Given the description of an element on the screen output the (x, y) to click on. 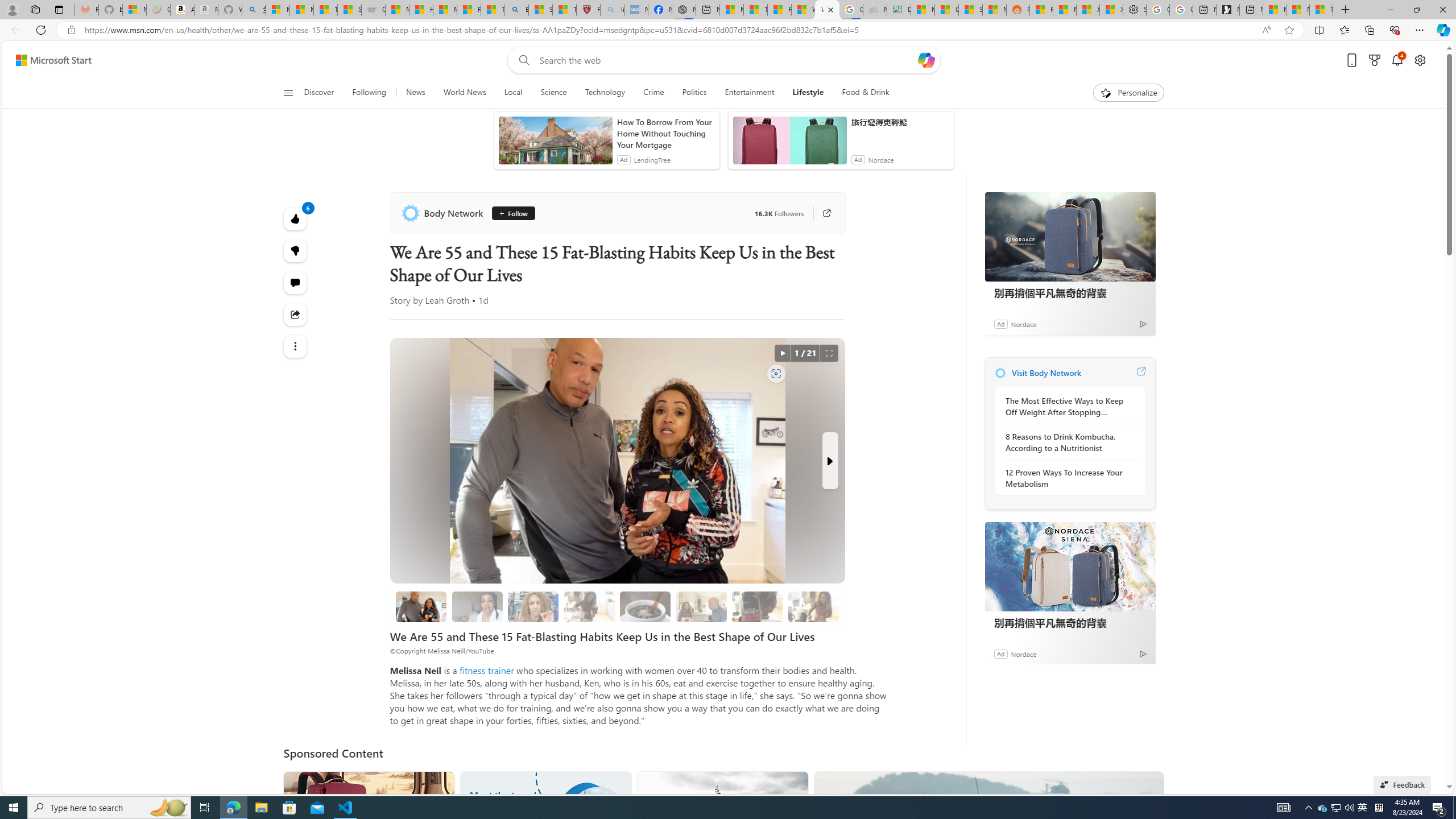
How I Got Rid of Microsoft Edge's Unnecessary Features (421, 9)
Class: at-item (295, 345)
Food & Drink (865, 92)
6 Like (295, 218)
